Given the description of an element on the screen output the (x, y) to click on. 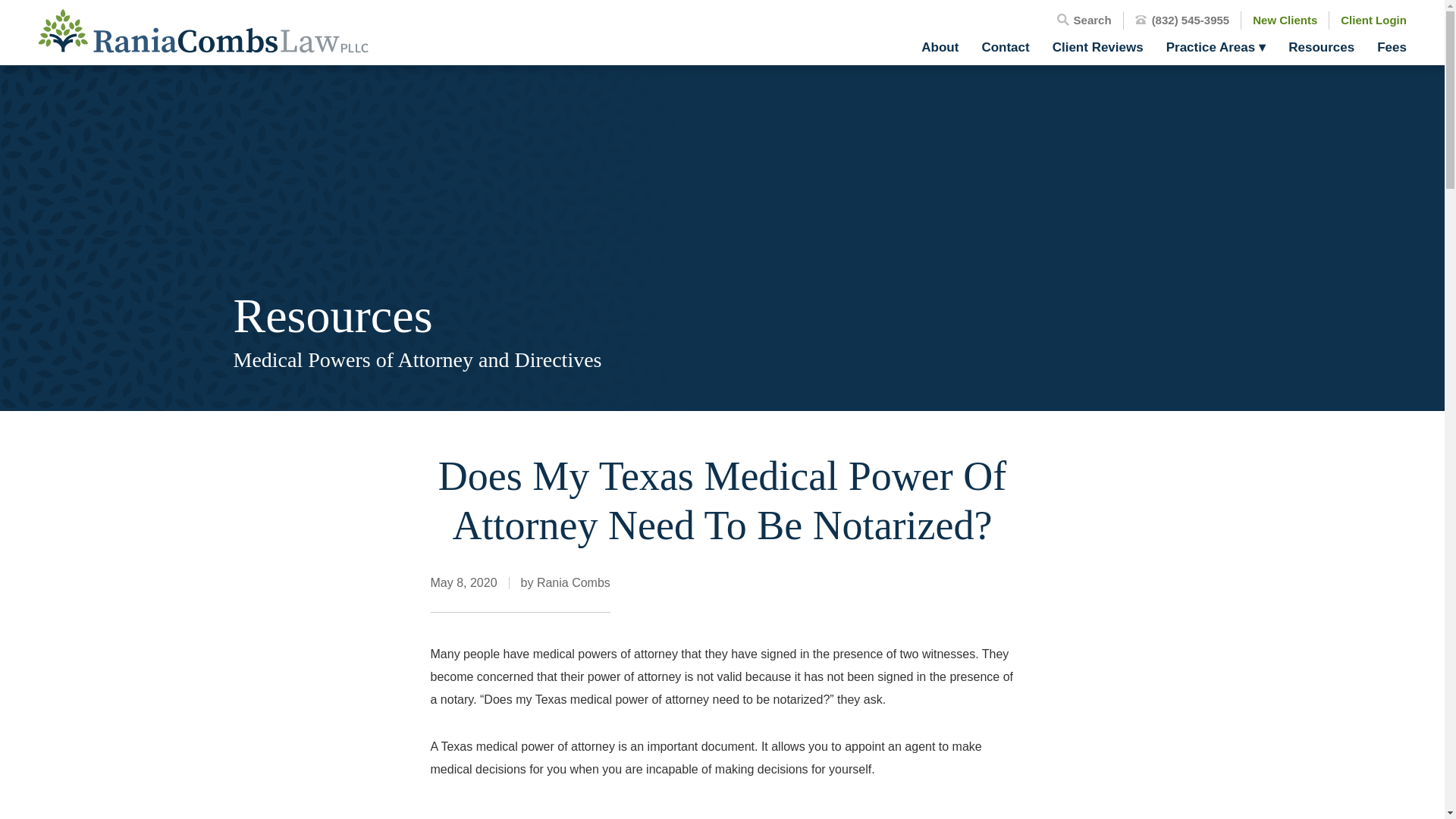
homepage (202, 32)
About (939, 47)
New Clients (1284, 19)
Client Login (1373, 19)
Practice Areas (1216, 47)
Rania Combs Law PLLC Logo (202, 32)
Rania Combs Law PLLC Logo (202, 30)
Resources (1320, 47)
Contact (1005, 47)
Search (1084, 19)
Fees (1385, 47)
Client Reviews (1097, 47)
